Given the description of an element on the screen output the (x, y) to click on. 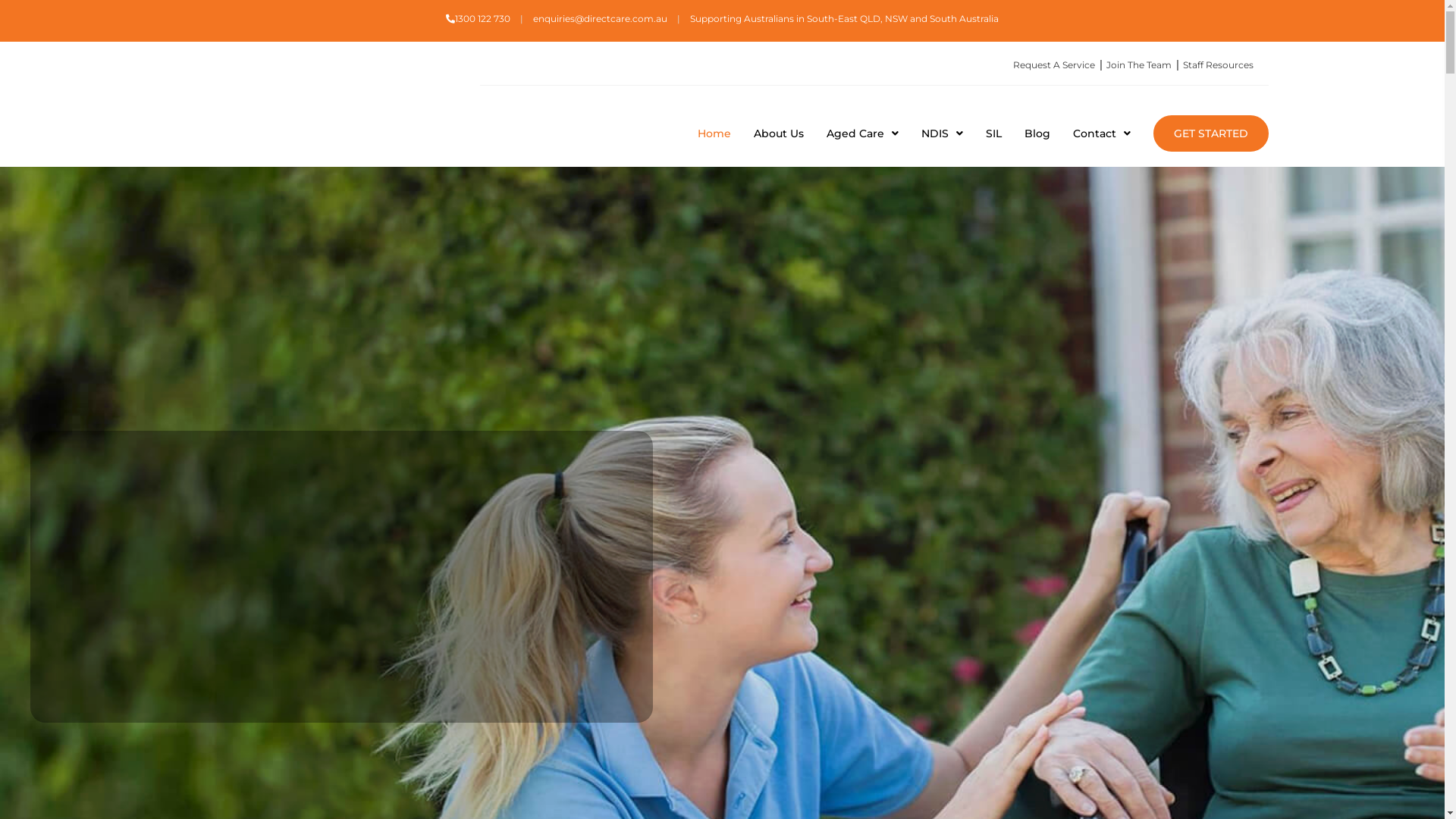
Join The Team Element type: text (1134, 65)
Request A Service Element type: text (1050, 65)
enquiries@directcare.com.au Element type: text (600, 18)
SIL Element type: text (993, 133)
Blog Element type: text (1036, 133)
NDIS Element type: text (941, 133)
GET STARTED Element type: text (1210, 133)
About Us Element type: text (778, 133)
1300 122 730 Element type: text (477, 18)
Aged Care Element type: text (862, 133)
Contact Element type: text (1100, 133)
Home Element type: text (714, 133)
Staff Resources Element type: text (1214, 65)
